Given the description of an element on the screen output the (x, y) to click on. 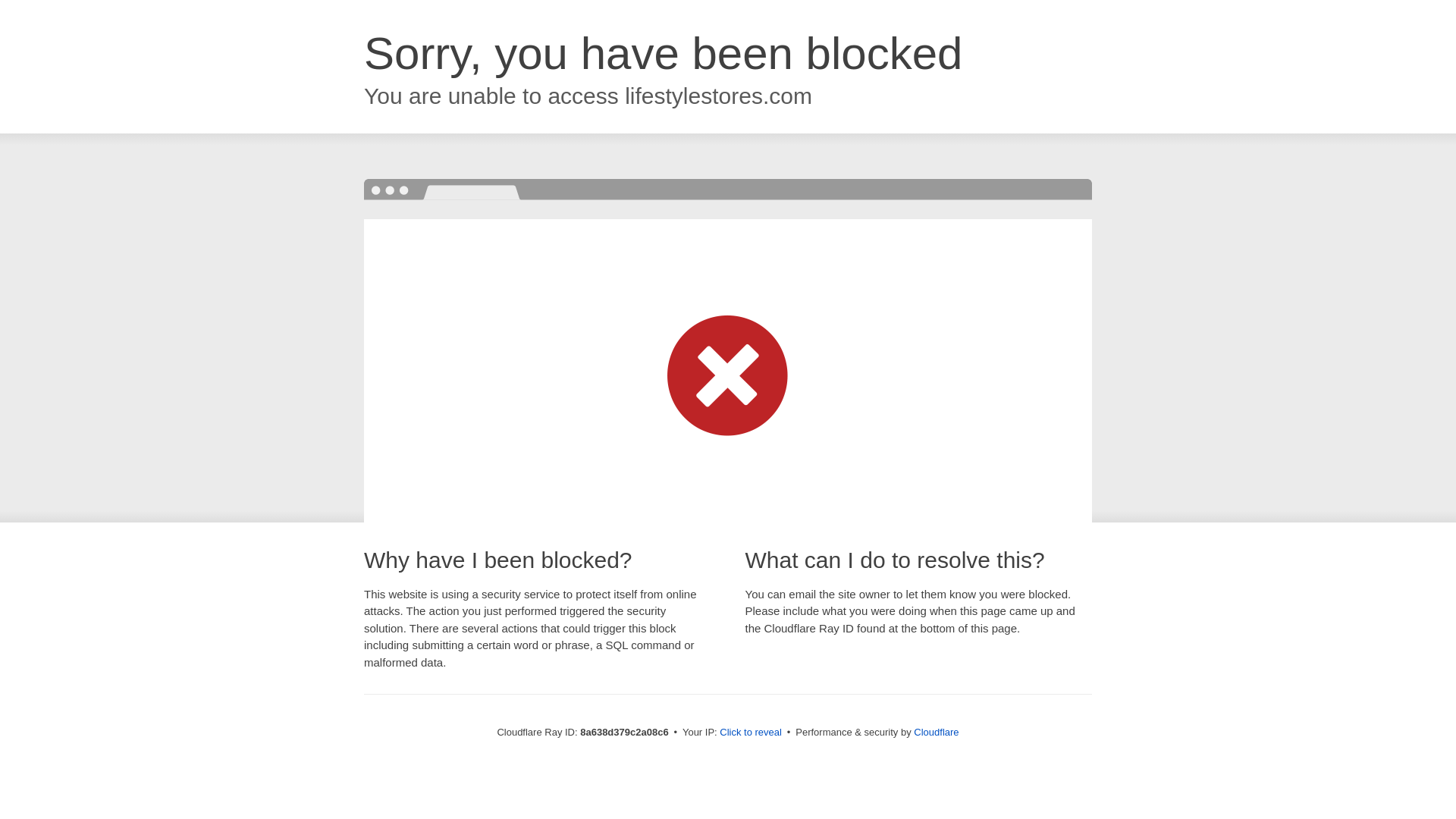
Click to reveal (750, 732)
Cloudflare (936, 731)
